Given the description of an element on the screen output the (x, y) to click on. 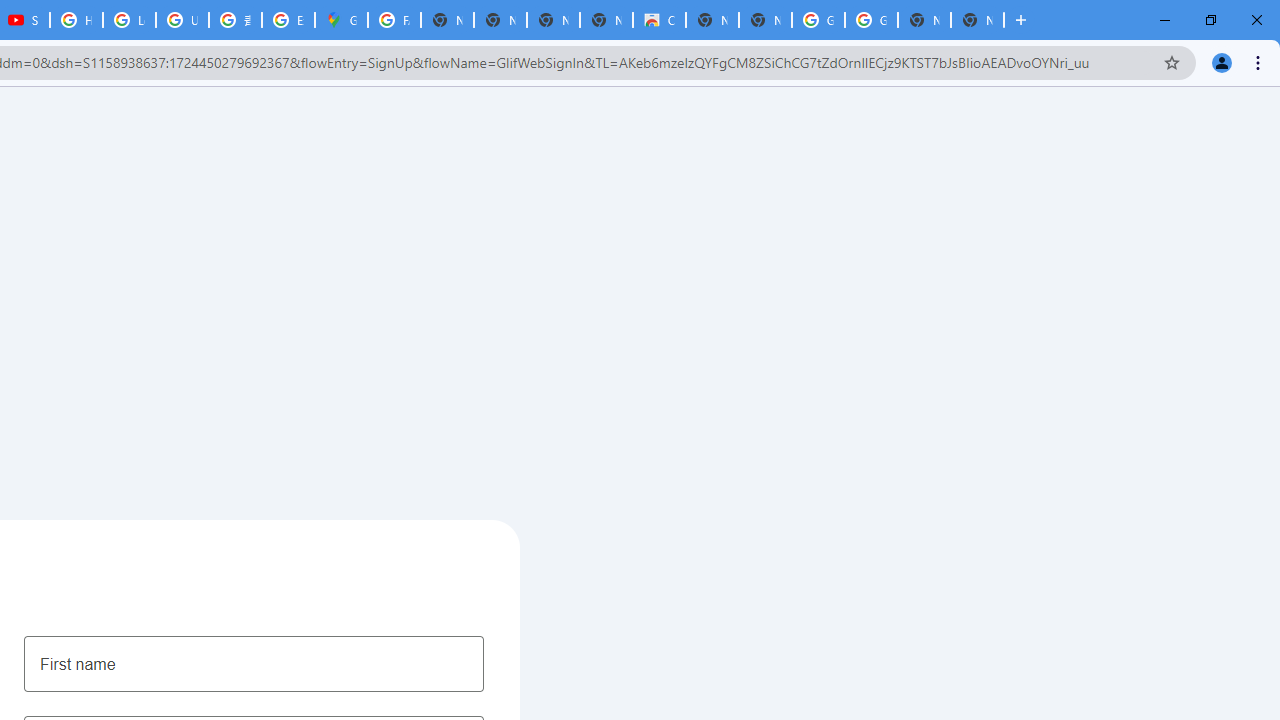
First name (253, 663)
Google Images (818, 20)
Explore new street-level details - Google Maps Help (288, 20)
Google Maps (341, 20)
